Given the description of an element on the screen output the (x, y) to click on. 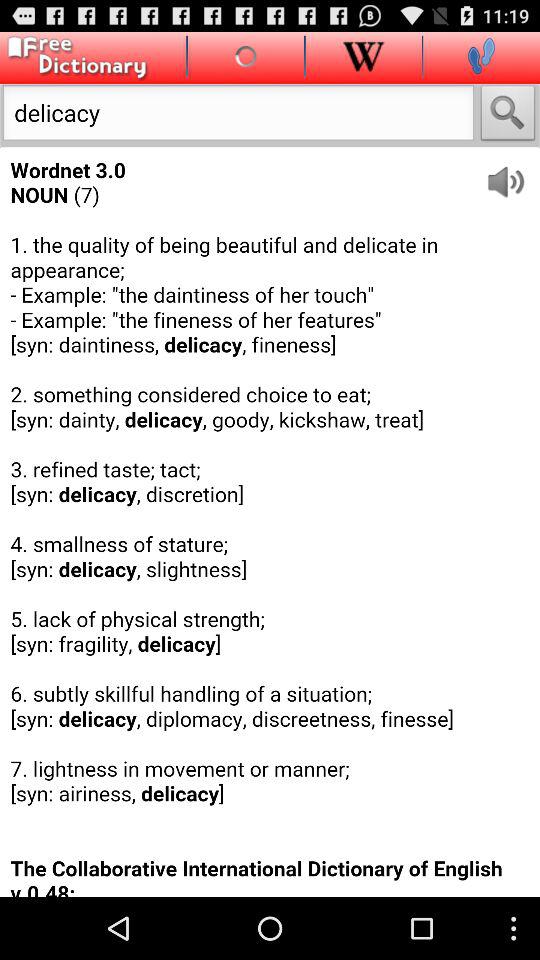
select the option (507, 115)
